Given the description of an element on the screen output the (x, y) to click on. 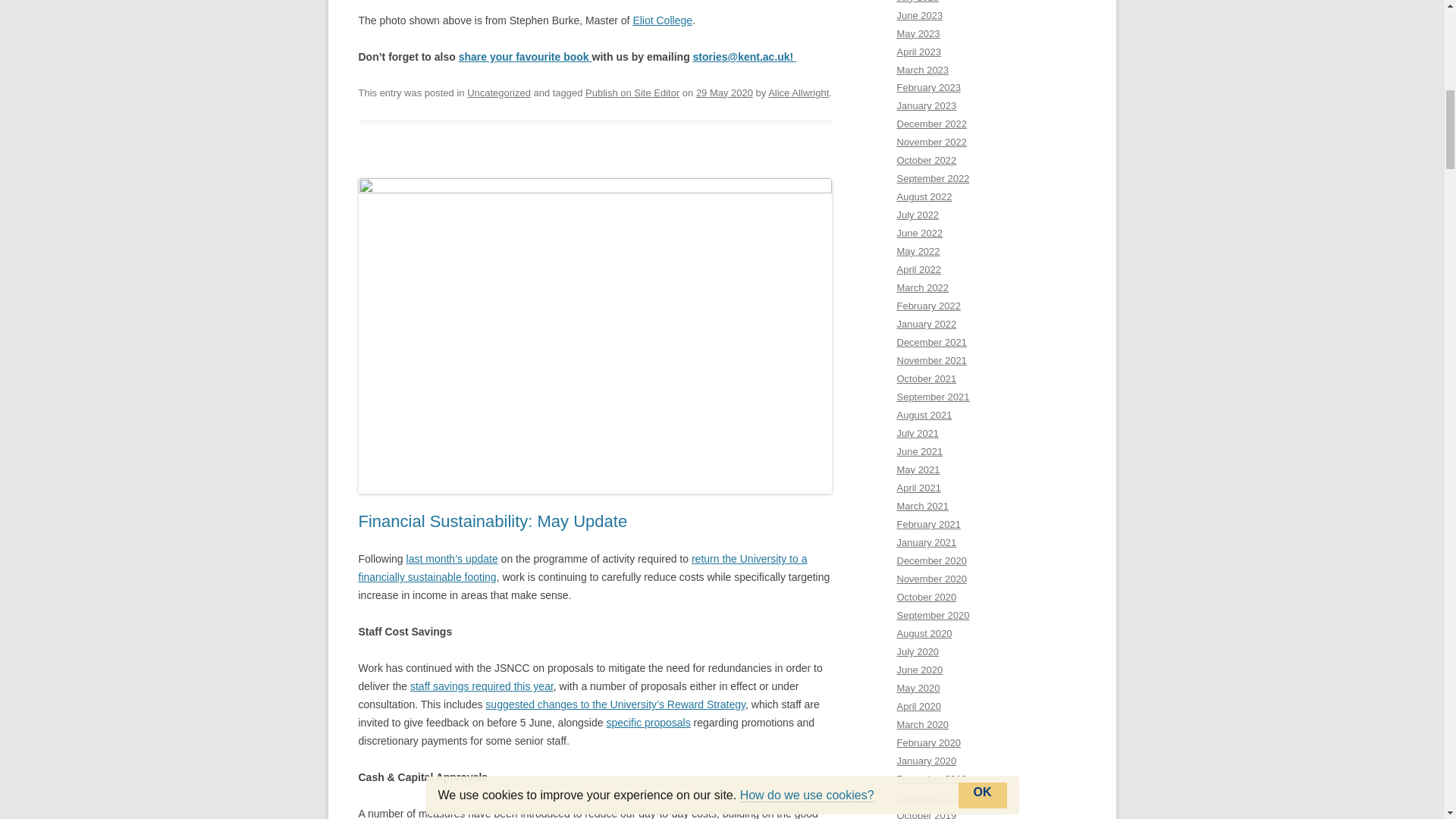
Uncategorized (499, 92)
return the University to a financially sustainable footing (582, 567)
specific proposals (647, 722)
staff savings required this year (481, 686)
View all posts by Alice Allwright (798, 92)
Alice Allwright (798, 92)
Eliot College (662, 20)
share your favourite book (525, 56)
29 May 2020 (723, 92)
Financial Sustainability: May Update (492, 520)
